Given the description of an element on the screen output the (x, y) to click on. 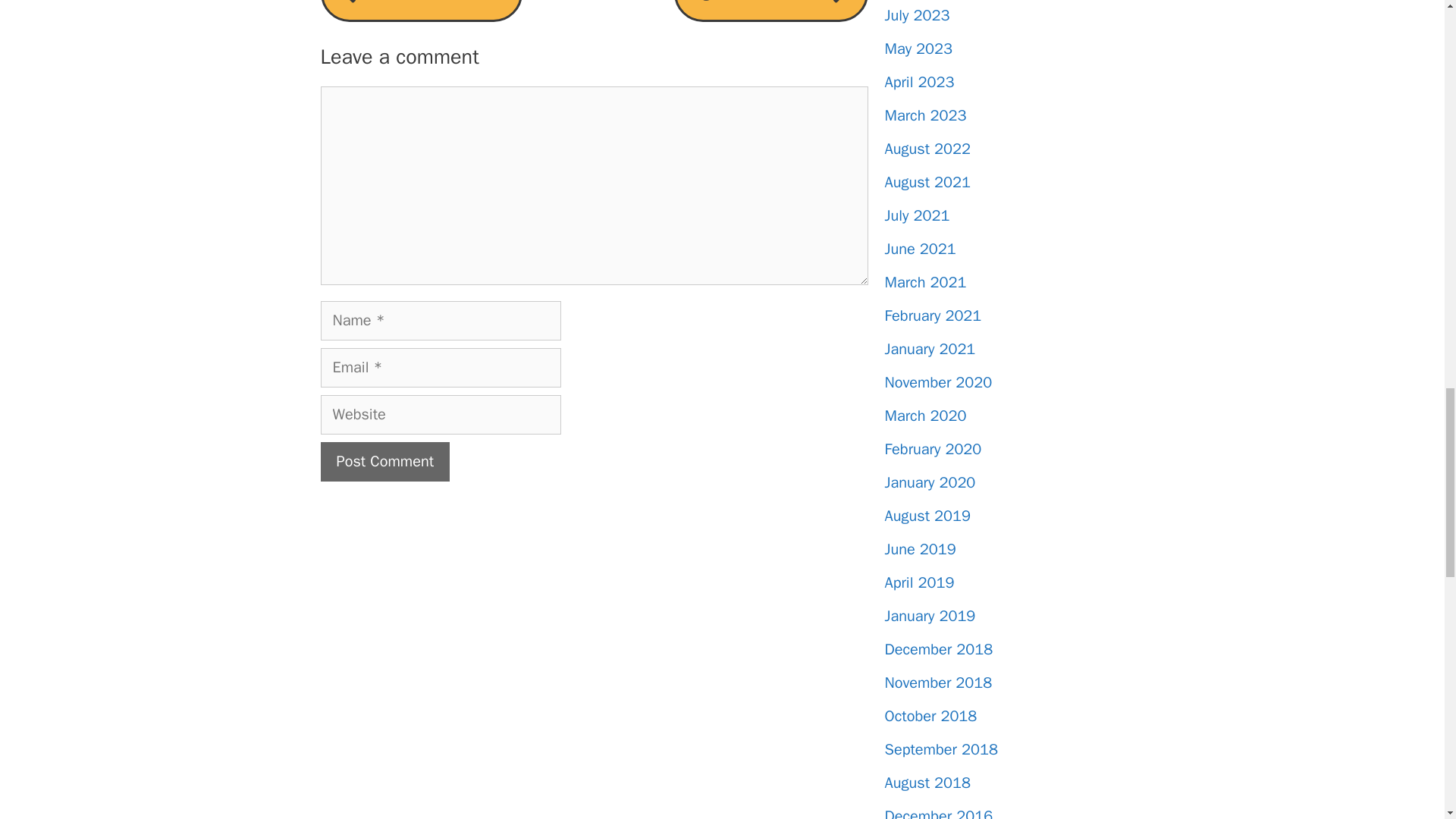
Aim to Be Proactive (420, 11)
Previous Post (420, 11)
Post Comment (384, 461)
Next Post (770, 11)
Post Comment (384, 461)
Organise Priorities (770, 11)
